Given the description of an element on the screen output the (x, y) to click on. 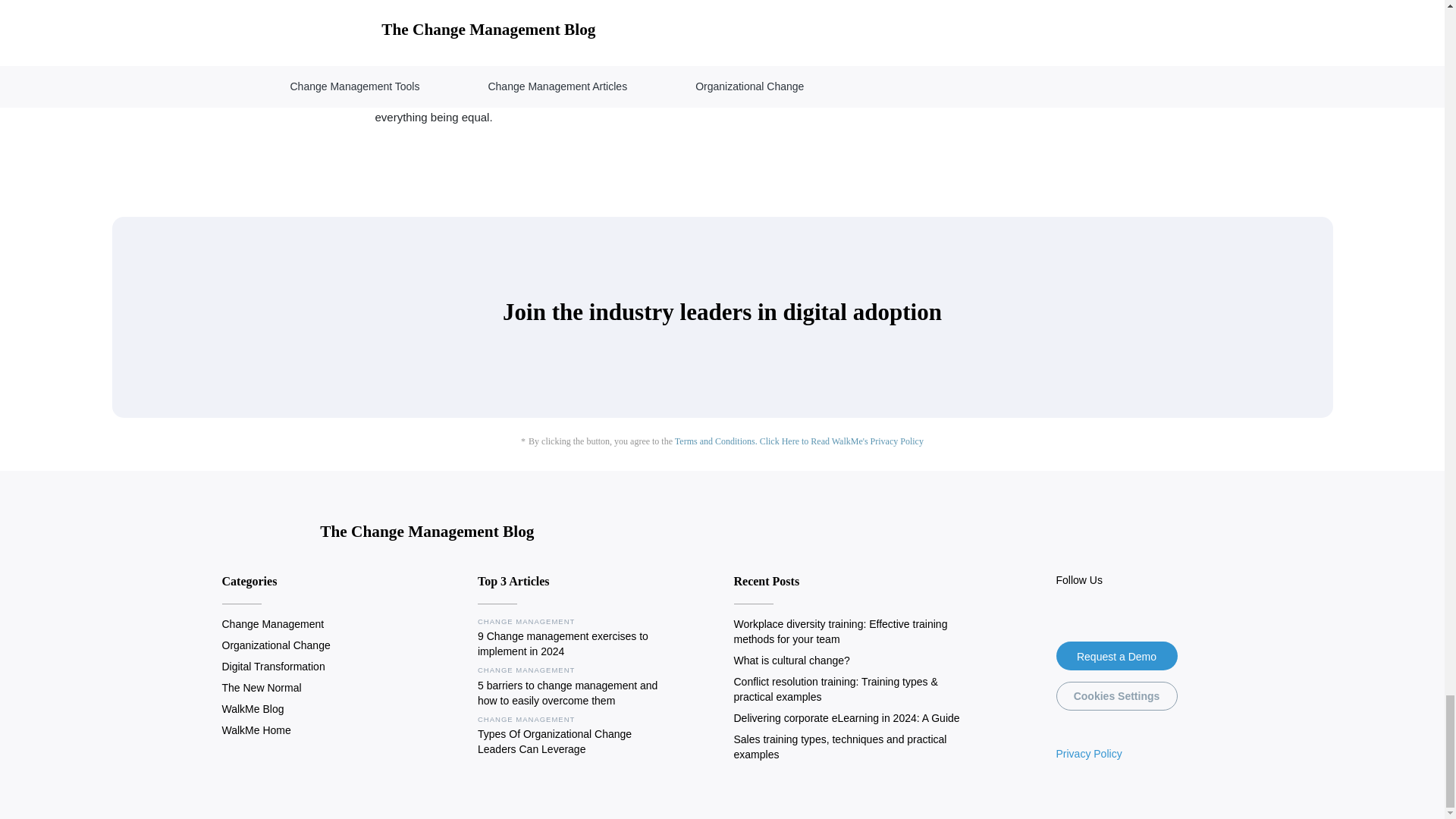
Change Management (272, 623)
Organizational Change (275, 645)
Posts by WalkMe Team (414, 43)
WalkMe Team (414, 43)
The Change Management Blog (377, 533)
